Given the description of an element on the screen output the (x, y) to click on. 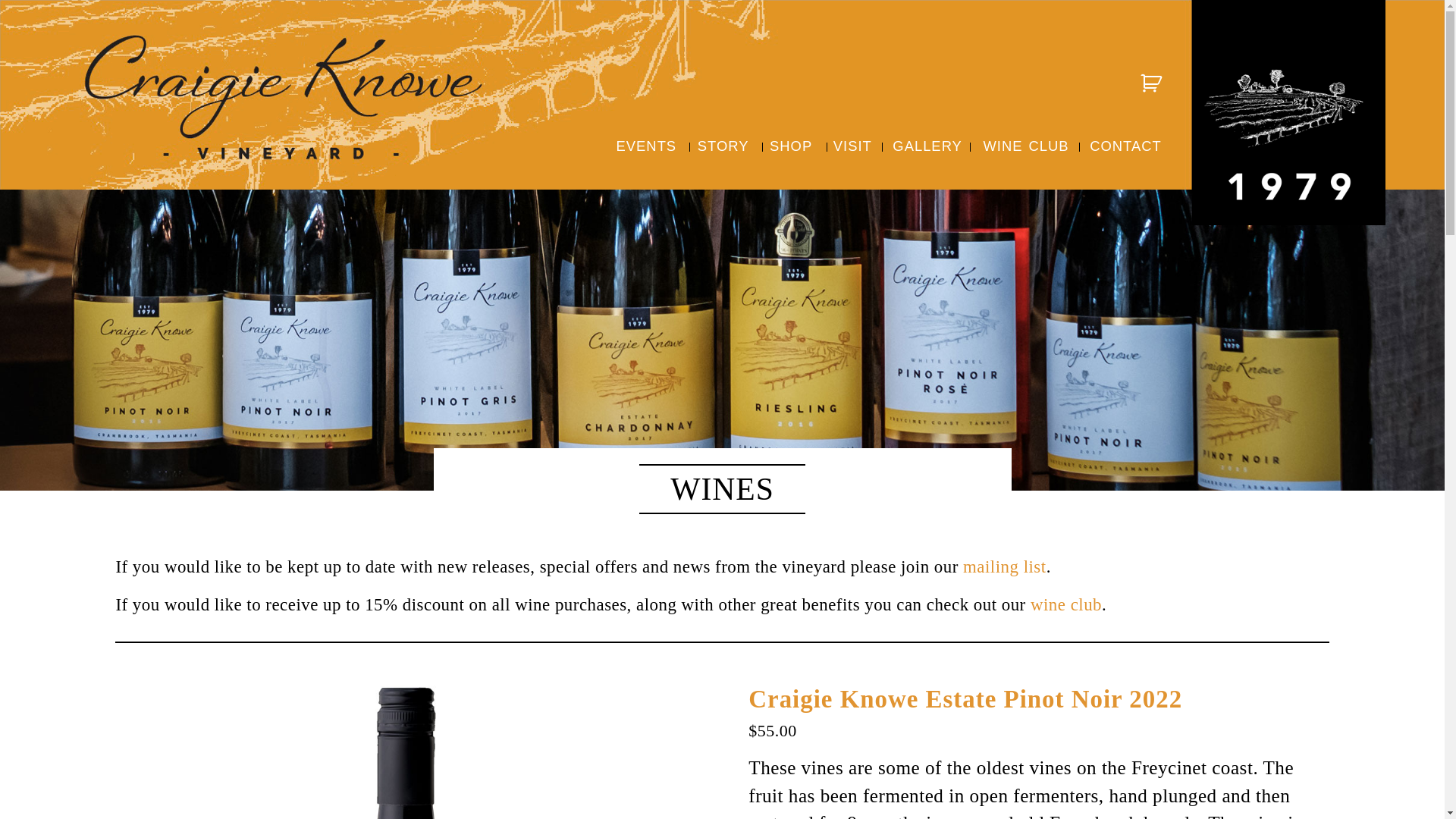
View your shopping cart Element type: hover (1151, 83)
EVENTS Element type: text (646, 146)
mailing list Element type: text (1004, 566)
GALLERY Element type: text (927, 146)
wine club Element type: text (1065, 604)
CONTACT Element type: text (1125, 146)
VISIT Element type: text (852, 146)
STORY Element type: text (723, 146)
WINE CLUB Element type: text (1025, 146)
SHOP Element type: text (790, 146)
